Given the description of an element on the screen output the (x, y) to click on. 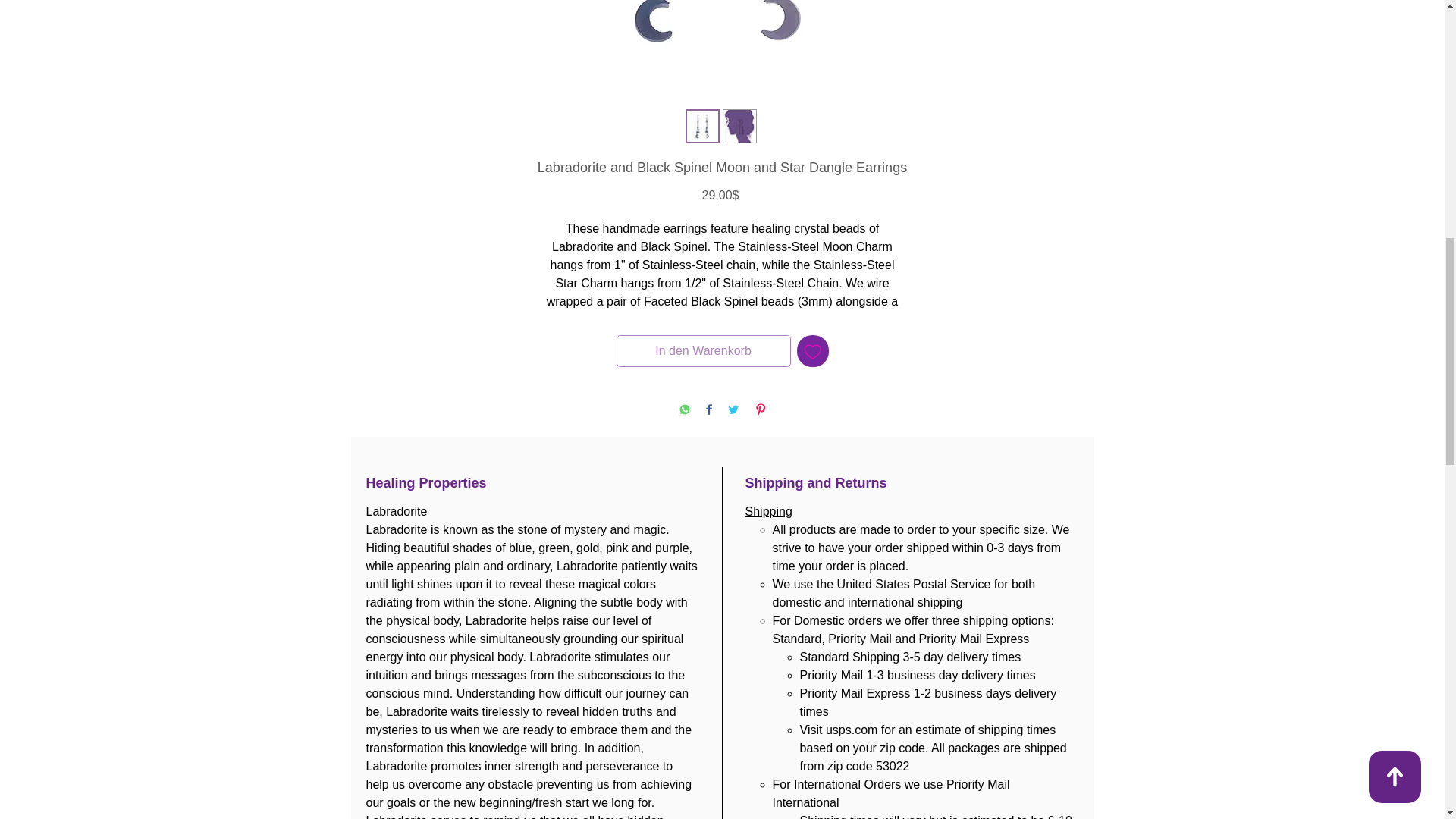
In den Warenkorb (702, 350)
